Given the description of an element on the screen output the (x, y) to click on. 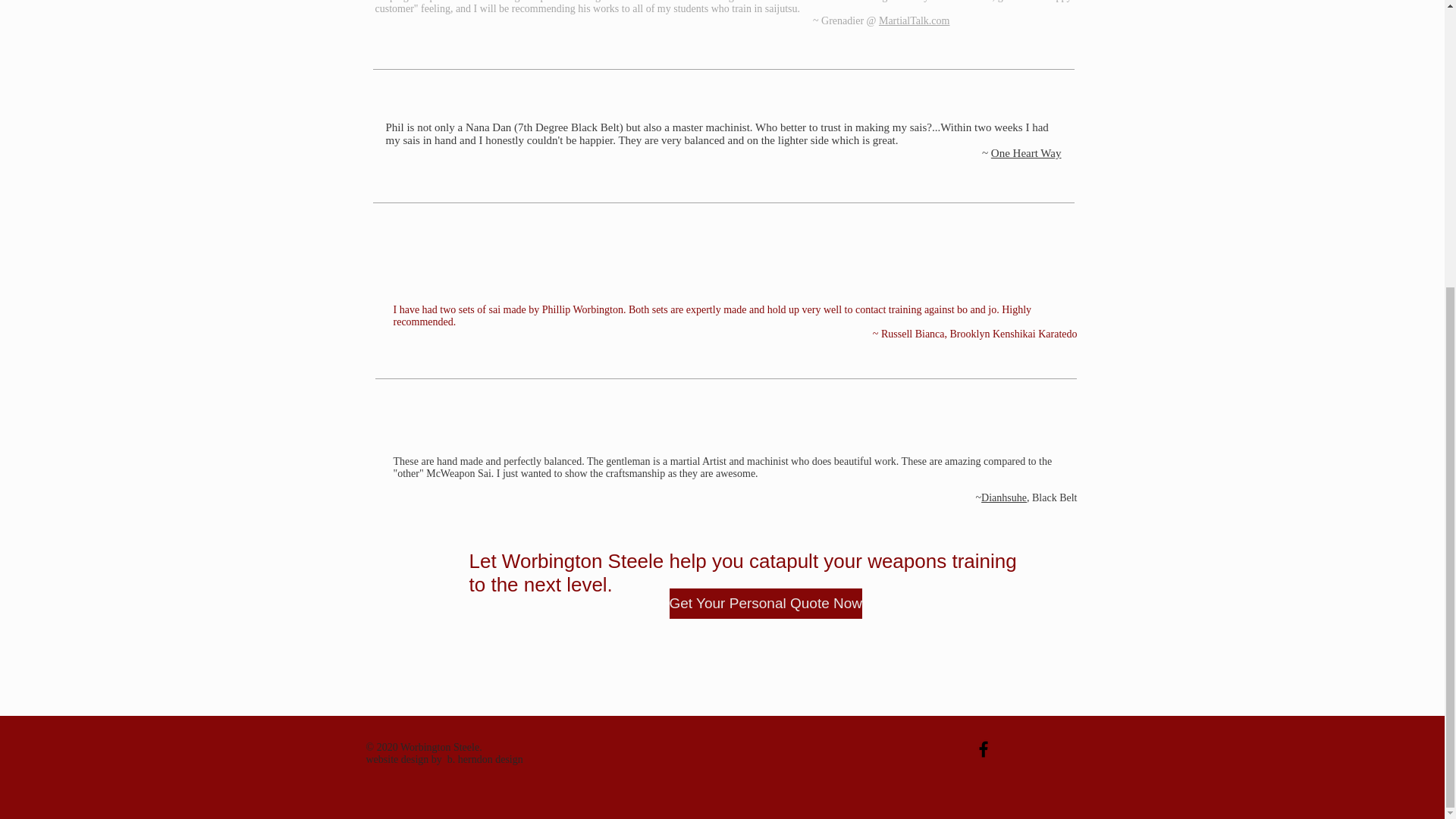
Dianhsuhe (1003, 497)
Get Your Personal Quote Now (764, 603)
One Heart Way (1026, 152)
MartialTalk.com (914, 20)
